Given the description of an element on the screen output the (x, y) to click on. 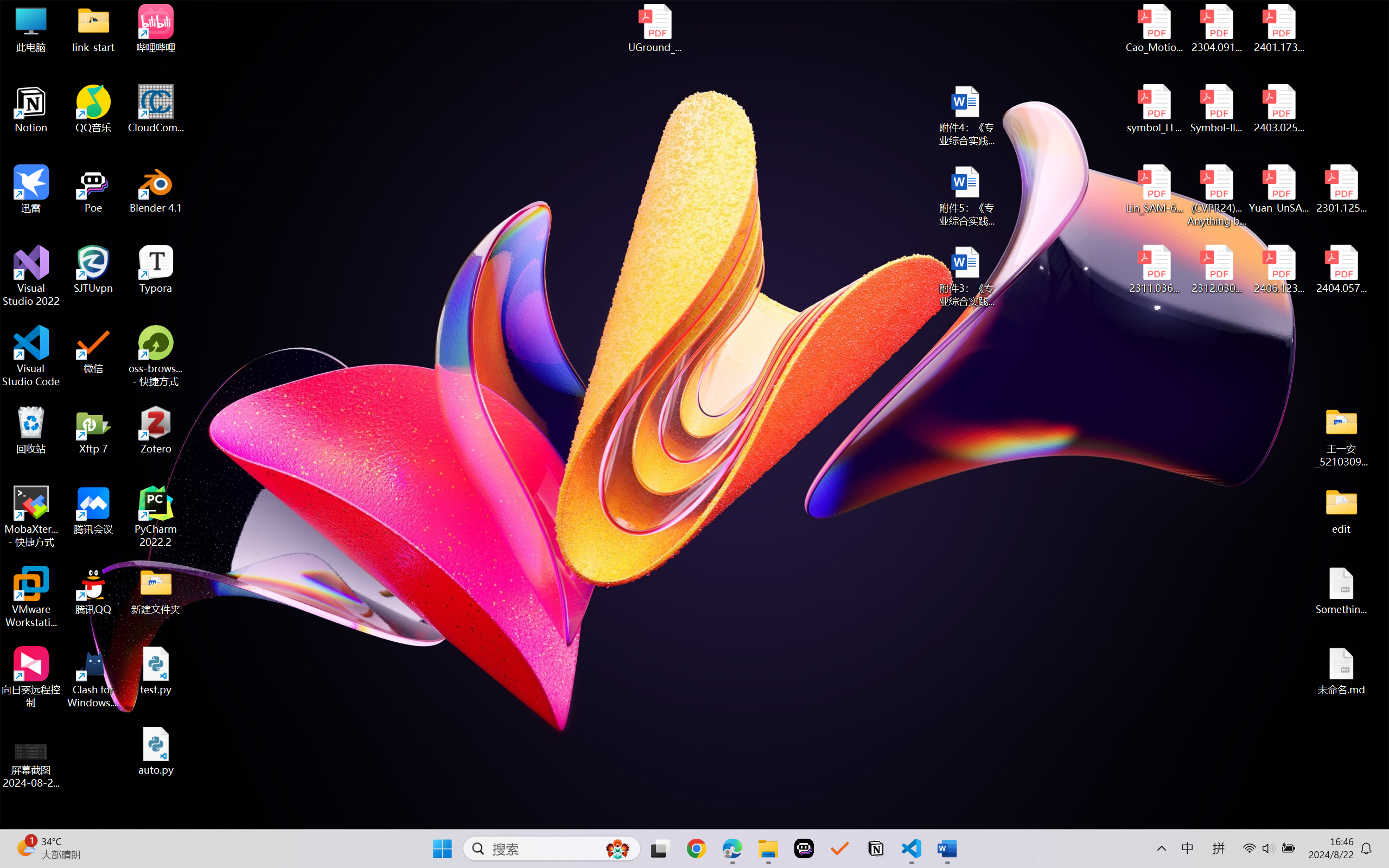
Visual Studio Code (31, 355)
Typora (156, 269)
CloudCompare (156, 109)
2403.02502v1.pdf (1278, 109)
VMware Workstation Pro (31, 597)
2406.12373v2.pdf (1278, 269)
2304.09121v3.pdf (1216, 28)
SJTUvpn (93, 269)
